Given the description of an element on the screen output the (x, y) to click on. 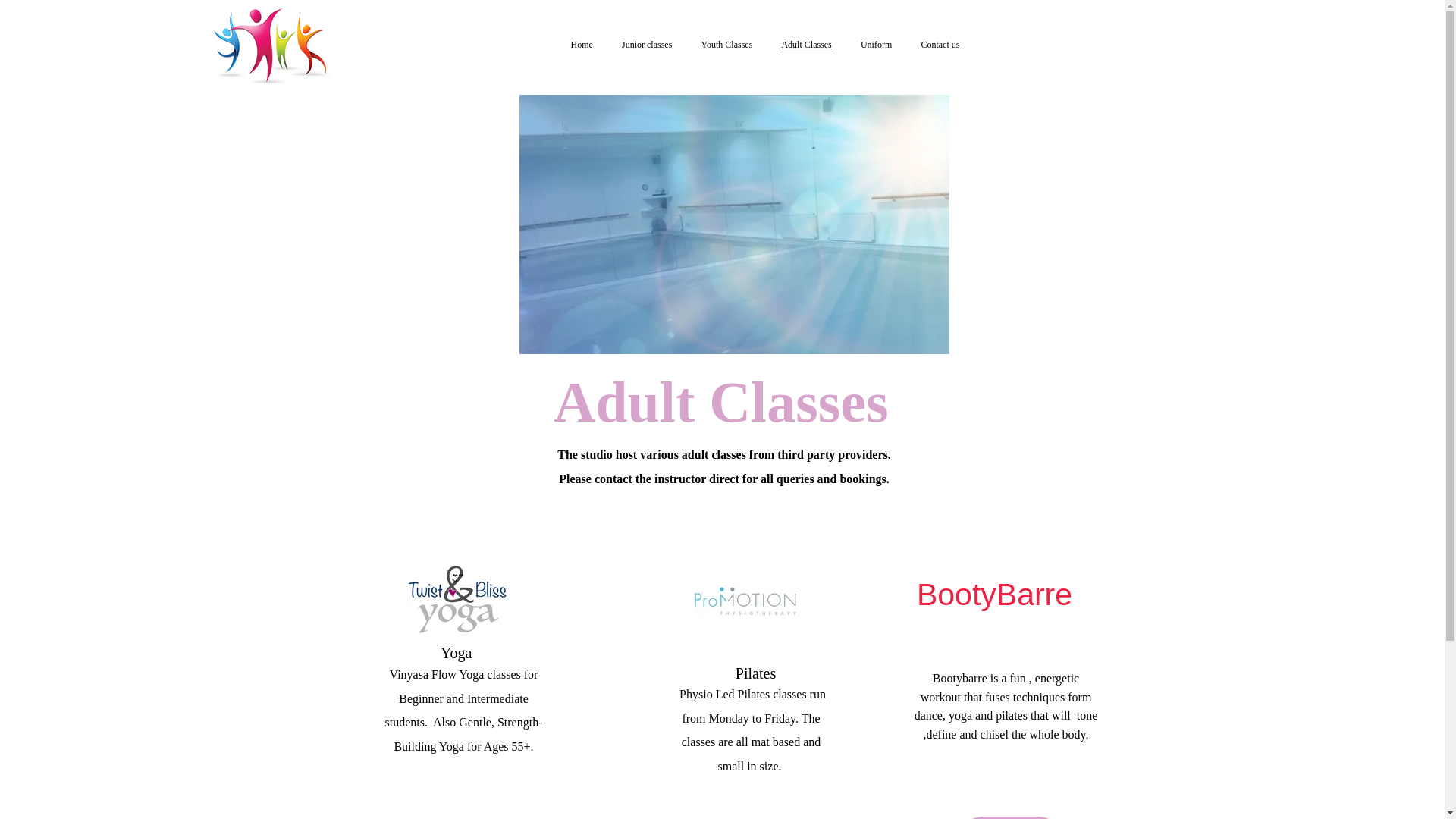
Uniform (875, 44)
Contact us (939, 44)
Adult Classes (806, 43)
Junior classes (646, 44)
Learn more (1009, 817)
Youth Classes (726, 44)
Home (581, 44)
